Given the description of an element on the screen output the (x, y) to click on. 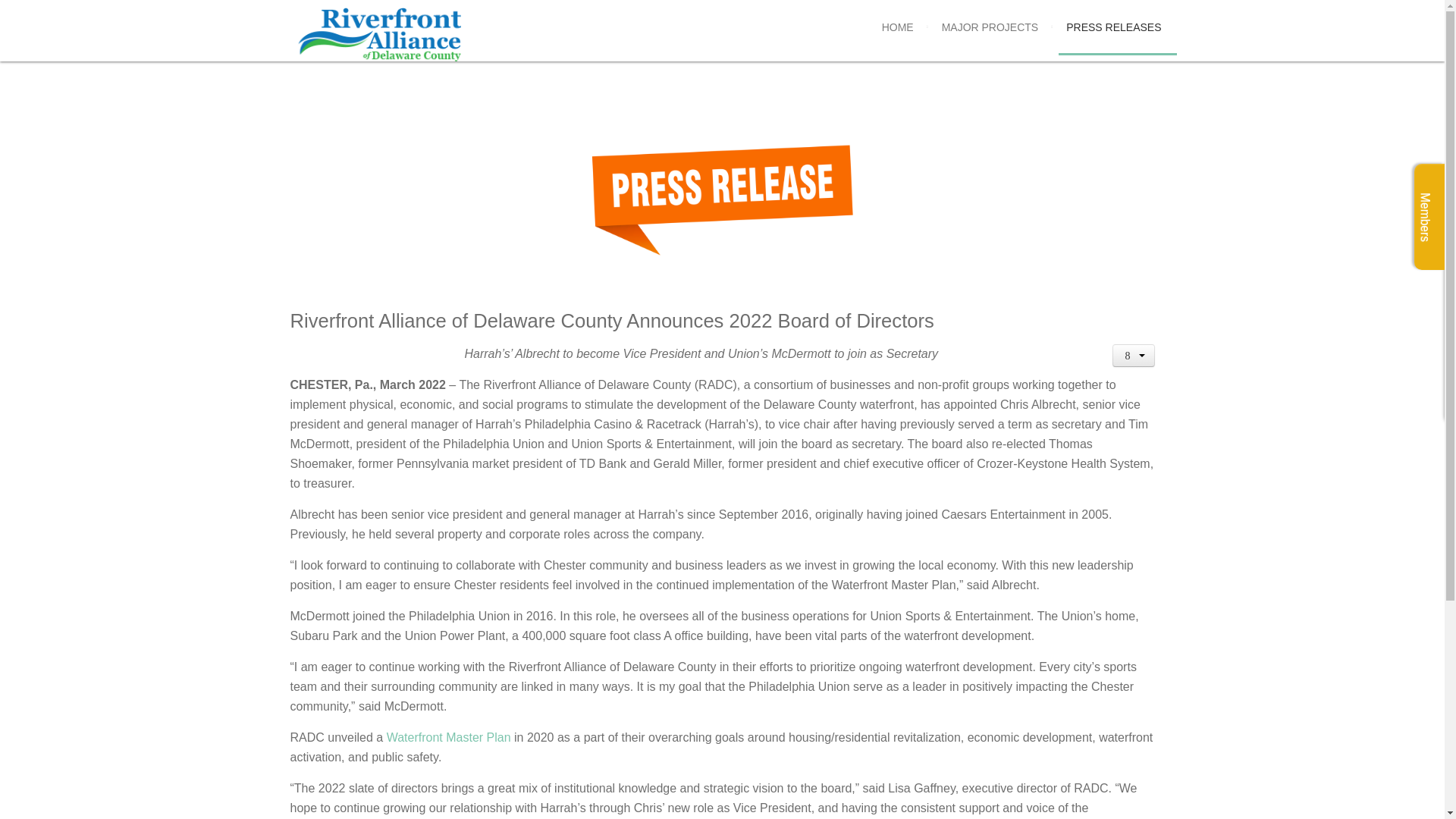
Waterfront Master Plan (449, 737)
MAJOR PROJECTS (989, 27)
HOME (897, 27)
PRESS RELEASES (1113, 27)
